Given the description of an element on the screen output the (x, y) to click on. 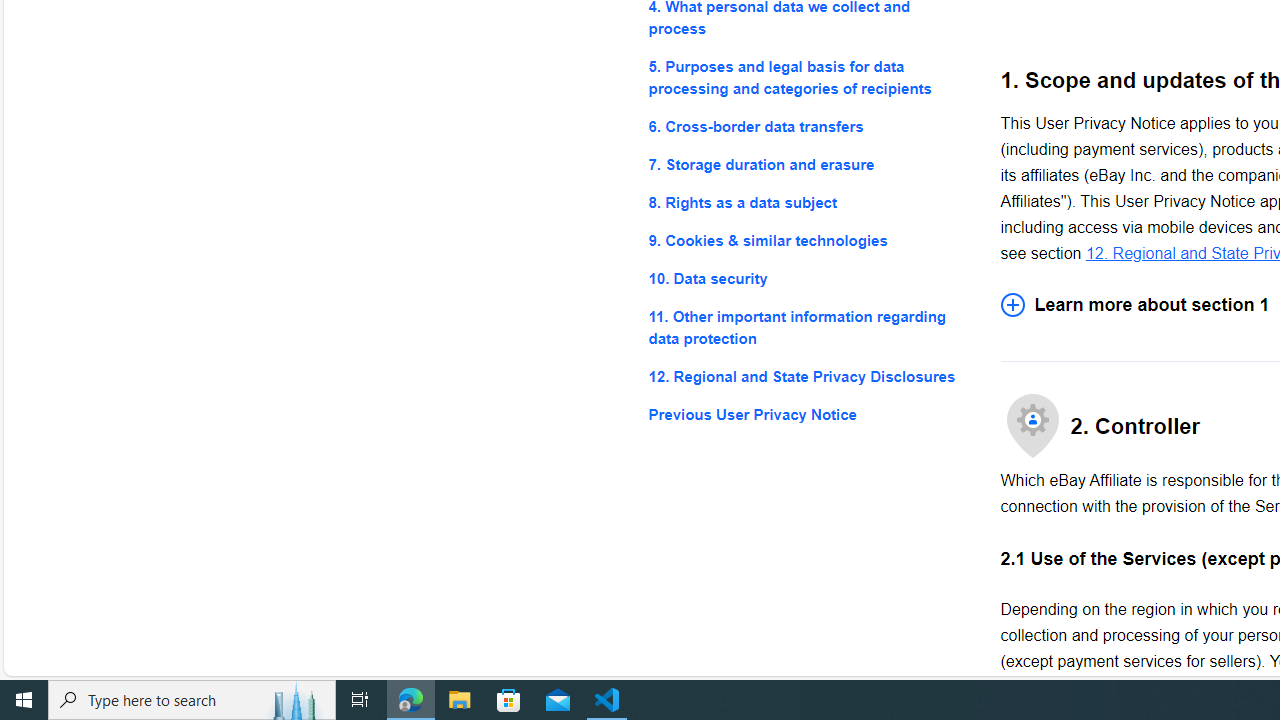
Previous User Privacy Notice (807, 414)
12. Regional and State Privacy Disclosures (807, 376)
7. Storage duration and erasure (807, 164)
8. Rights as a data subject (807, 203)
6. Cross-border data transfers (807, 126)
Previous User Privacy Notice (807, 414)
8. Rights as a data subject (807, 203)
11. Other important information regarding data protection (807, 328)
10. Data security (807, 278)
10. Data security (807, 278)
12. Regional and State Privacy Disclosures (807, 376)
6. Cross-border data transfers (807, 126)
11. Other important information regarding data protection (807, 328)
